Given the description of an element on the screen output the (x, y) to click on. 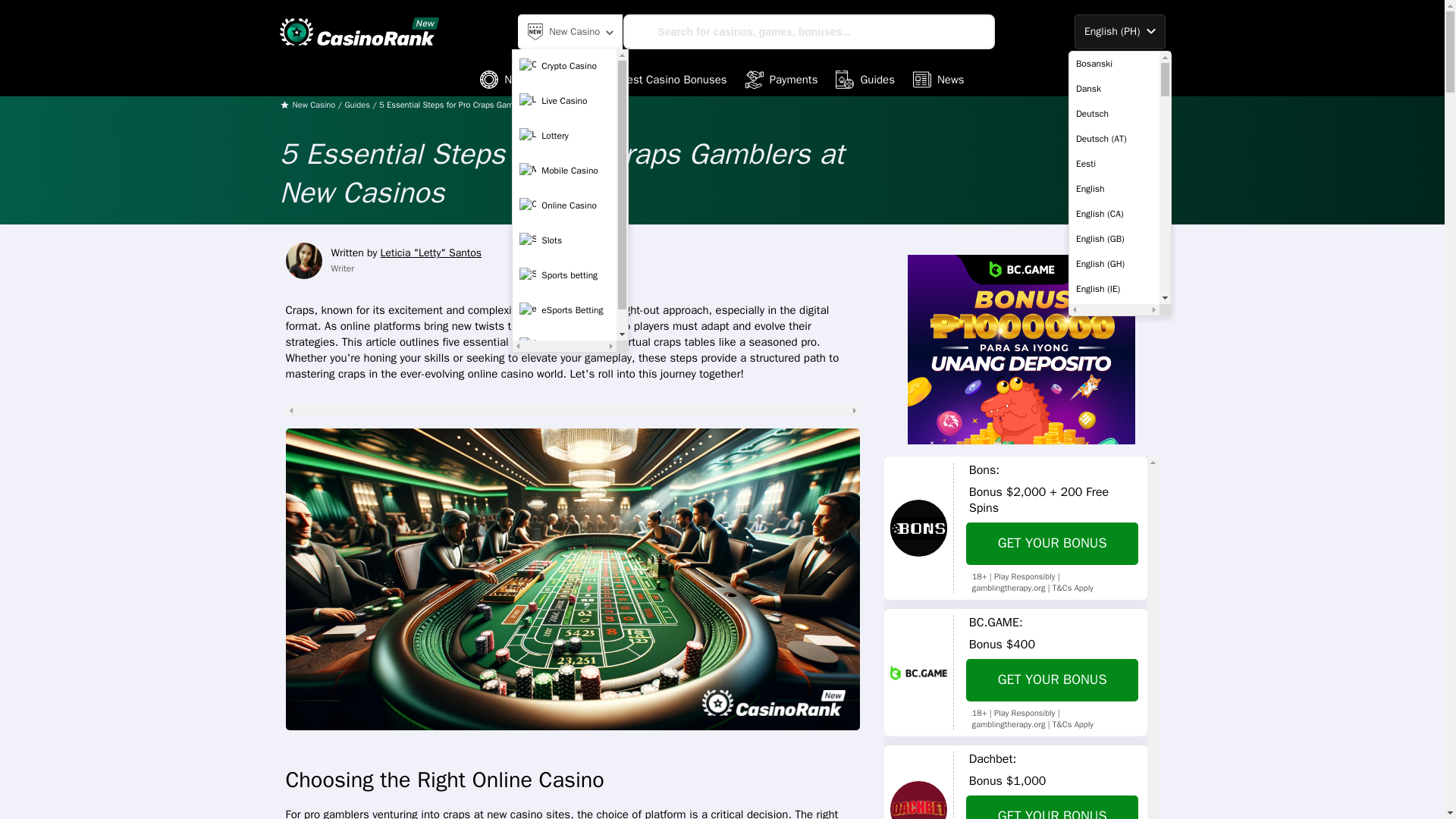
Deutsch (1113, 113)
Slots (563, 344)
Mobile Casino (563, 170)
Bosanski (1113, 63)
Slots (563, 240)
eSports Betting (563, 309)
Crypto Casino (563, 65)
Online Casino (563, 205)
Dansk (1113, 88)
Eesti (1113, 163)
Sports betting (563, 275)
Lottery (563, 135)
Live Casino (563, 100)
English (1113, 188)
